Given the description of an element on the screen output the (x, y) to click on. 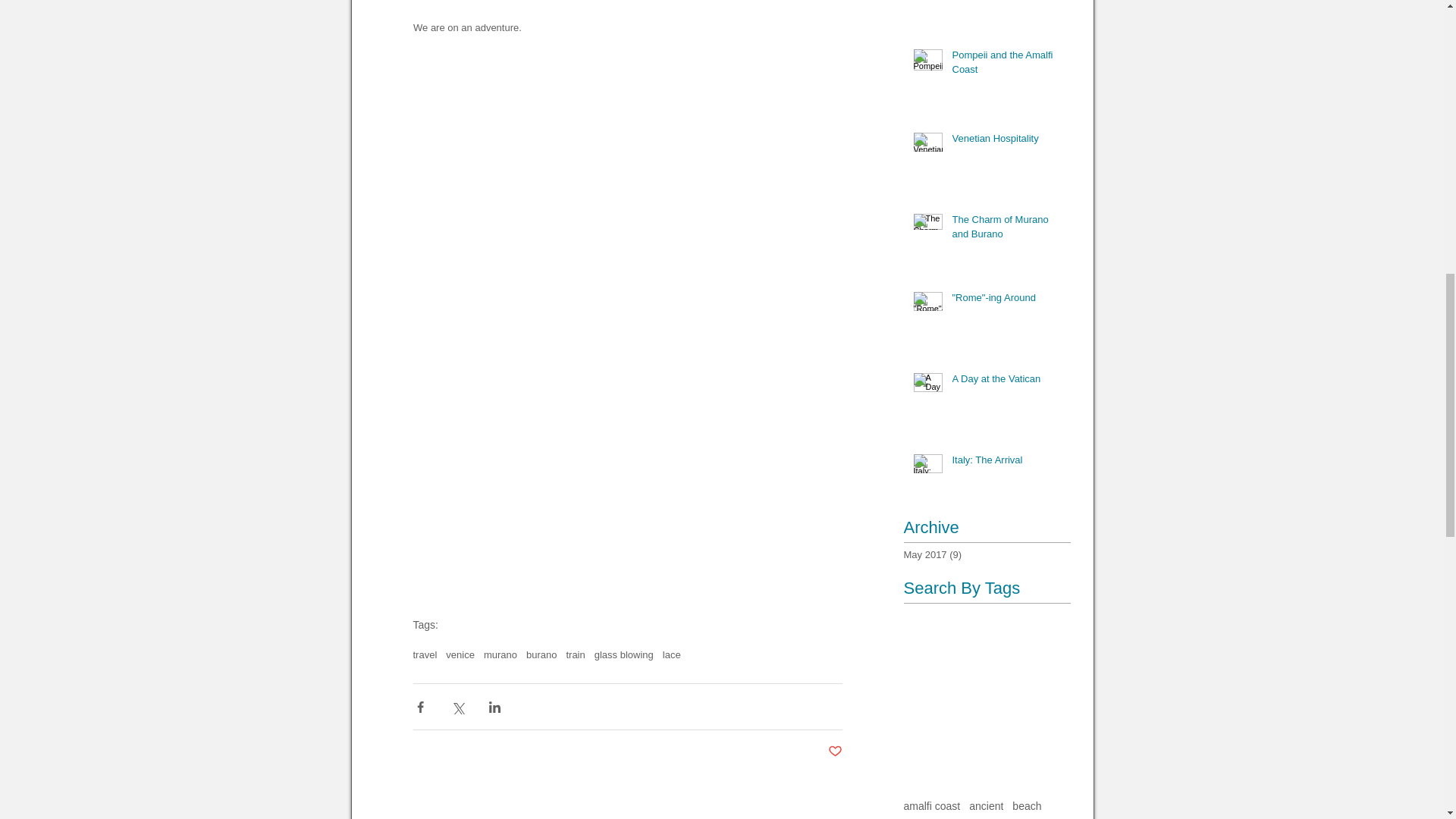
venice (459, 654)
Venetian Hospitality (1006, 141)
Pompeii and the Amalfi Coast (1006, 64)
lace (671, 654)
travel (424, 654)
Post not marked as liked (835, 751)
amalfi coast (932, 806)
train (575, 654)
murano (499, 654)
The Charm of Murano and Burano (1006, 229)
"Rome"-ing Around (1006, 301)
glass blowing (623, 654)
Italy: The Arrival (1006, 463)
burano (540, 654)
A Day at the Vatican (1006, 382)
